Given the description of an element on the screen output the (x, y) to click on. 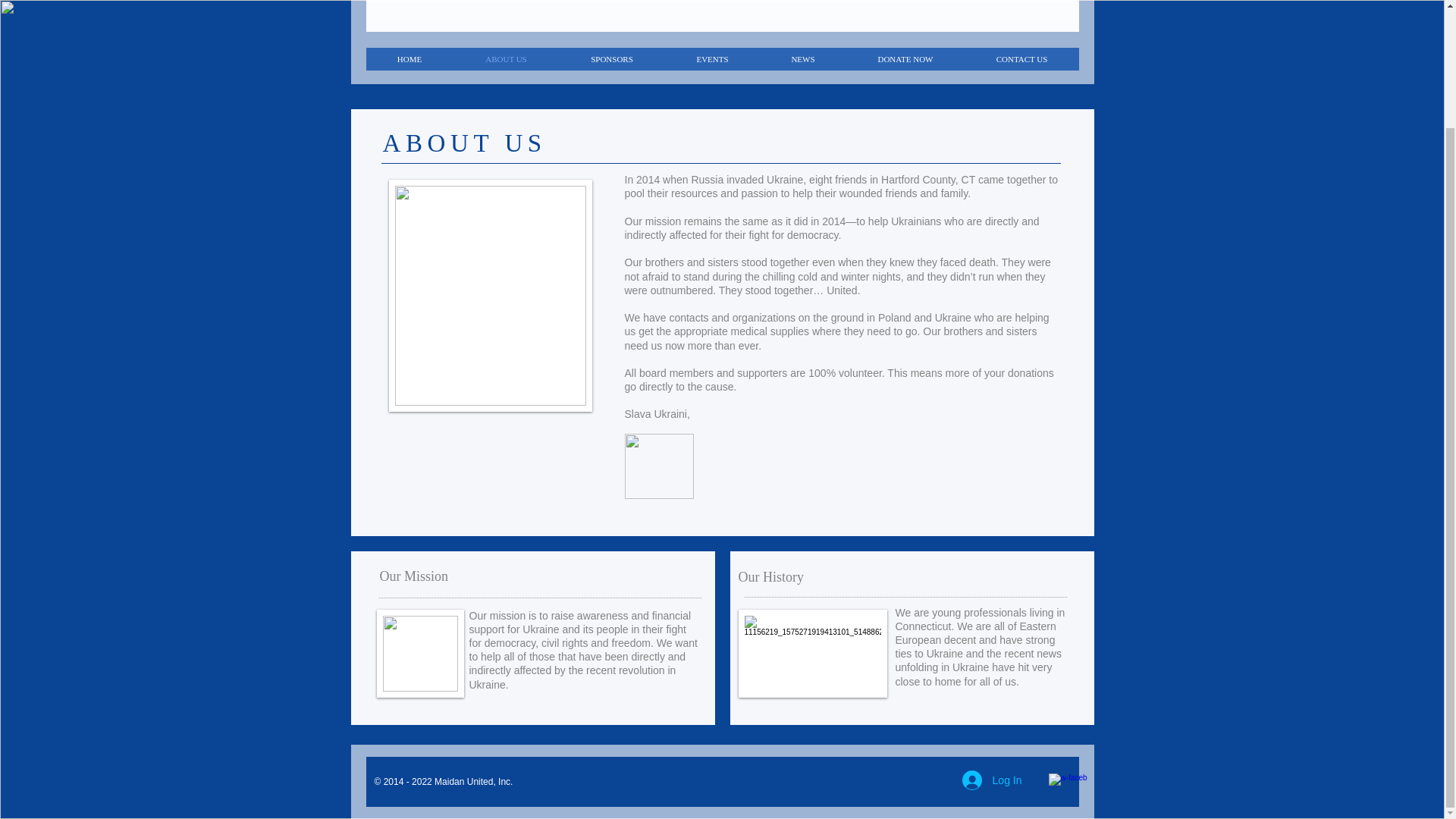
HOME (408, 58)
logo maidan united.jpg (659, 466)
Log In (992, 779)
DONATE NOW (904, 58)
ABOUT US (505, 58)
EVENTS (710, 58)
NEWS (802, 58)
CONTACT US (1020, 58)
SPONSORS (610, 58)
